Given the description of an element on the screen output the (x, y) to click on. 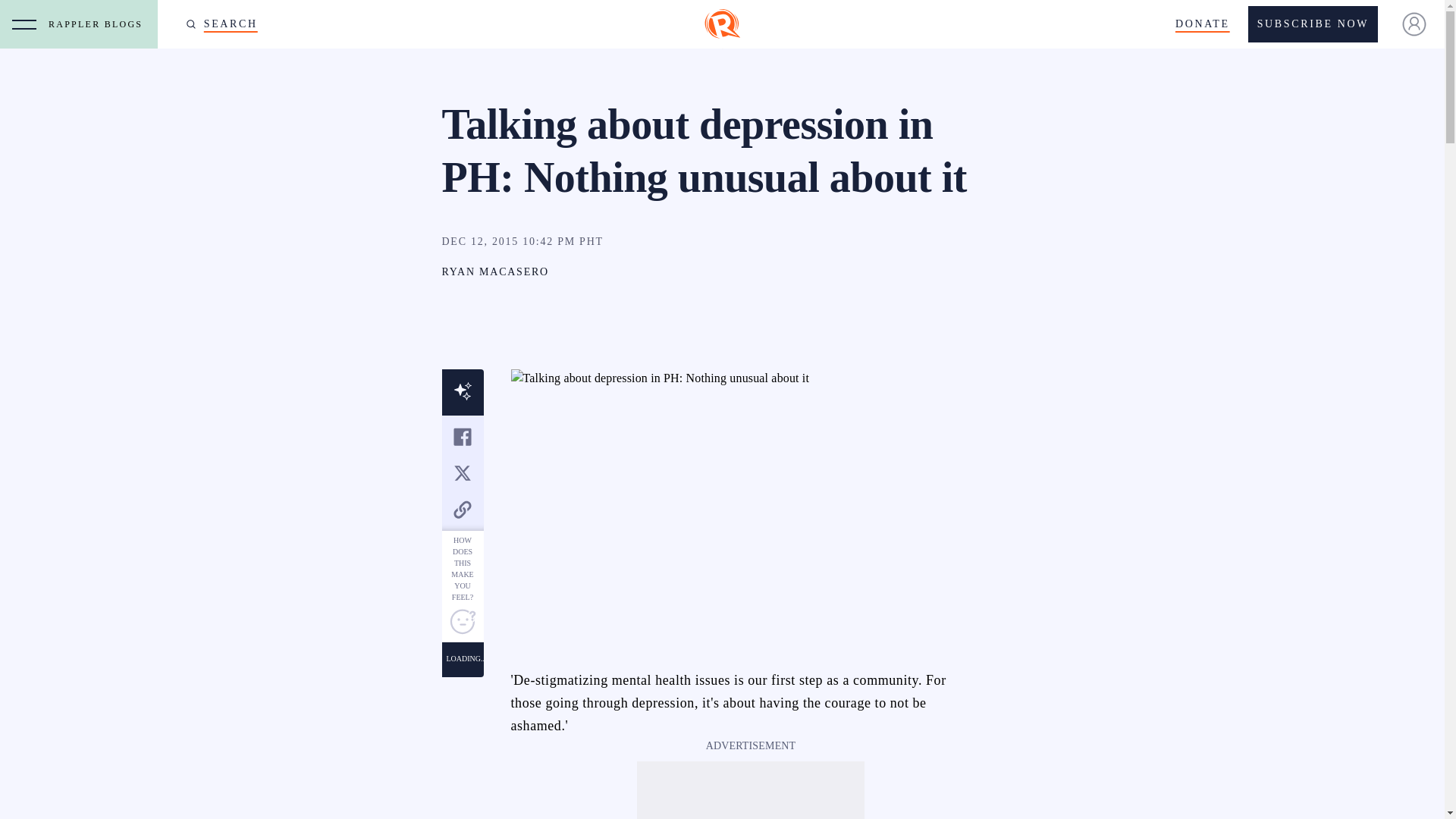
OPEN NAVIGATION (24, 24)
RAPPLER BLOGS (98, 23)
